Given the description of an element on the screen output the (x, y) to click on. 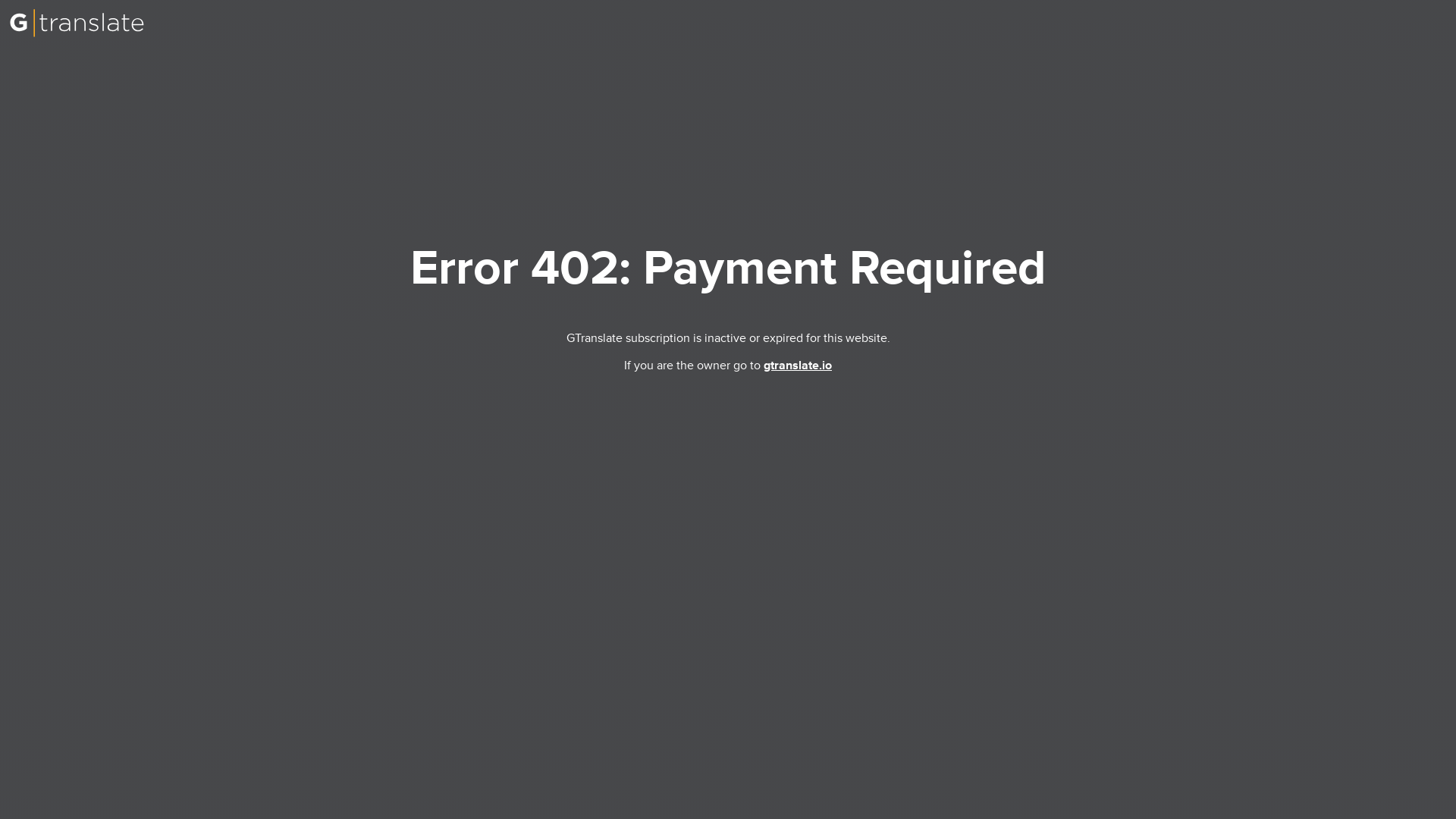
gtranslate.io (796, 365)
